Given the description of an element on the screen output the (x, y) to click on. 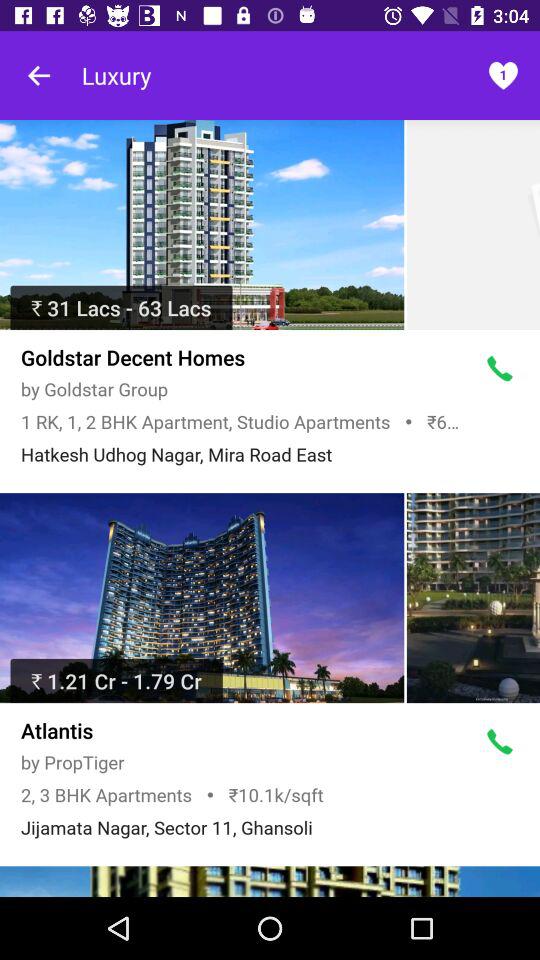
open the luxury item (116, 75)
